Given the description of an element on the screen output the (x, y) to click on. 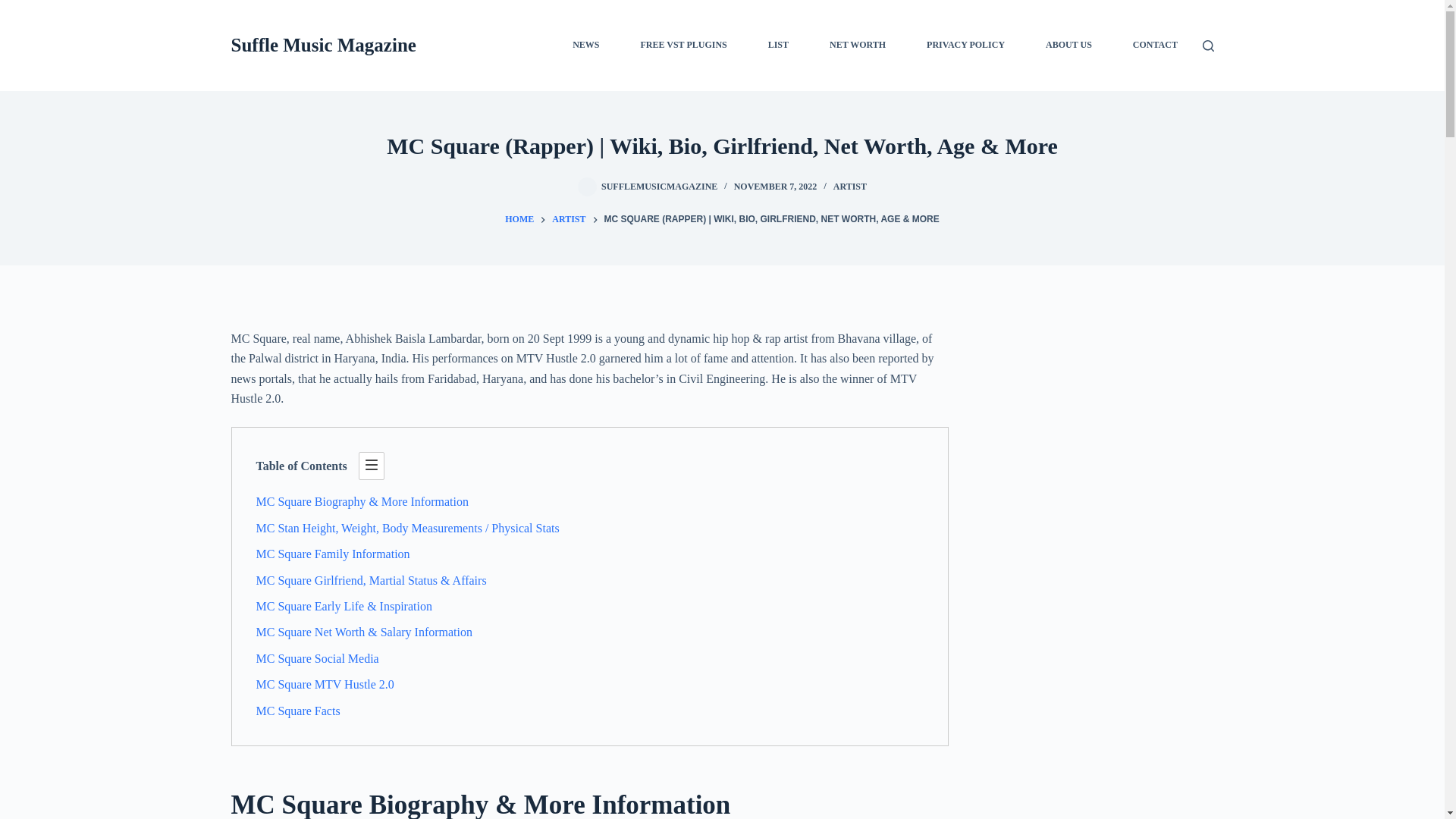
Skip to content (15, 7)
ARTIST (568, 219)
MC Square Social Media (317, 658)
MC Square Facts (298, 710)
FREE VST PLUGINS (683, 45)
SUFFLEMUSICMAGAZINE (659, 185)
MC Square MTV Hustle 2.0 (325, 684)
HOME (519, 219)
ARTIST (849, 185)
MC Square Family Information (333, 553)
Suffle Music Magazine (322, 45)
PRIVACY POLICY (965, 45)
Posts by sufflemusicmagazine (659, 185)
